Given the description of an element on the screen output the (x, y) to click on. 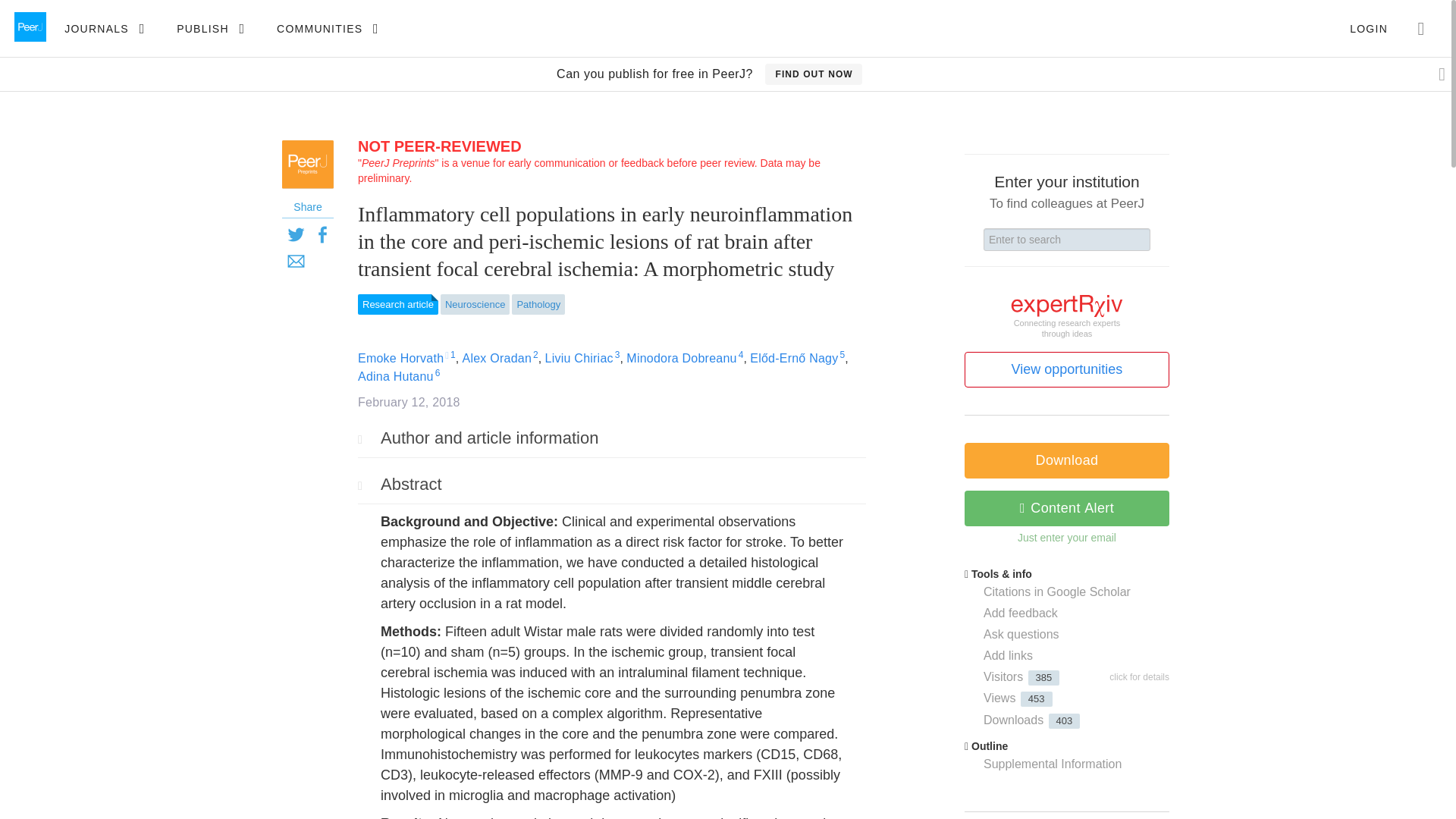
Neuroscience (476, 304)
Email (295, 260)
Minodora Dobreanu (681, 358)
X (295, 234)
Alex Oradan (497, 358)
Adina Hutanu (395, 376)
Facebook (321, 234)
Pathology (538, 304)
Liviu Chiriac (578, 358)
Emoke Horvath (401, 358)
Research article (398, 304)
